Given the description of an element on the screen output the (x, y) to click on. 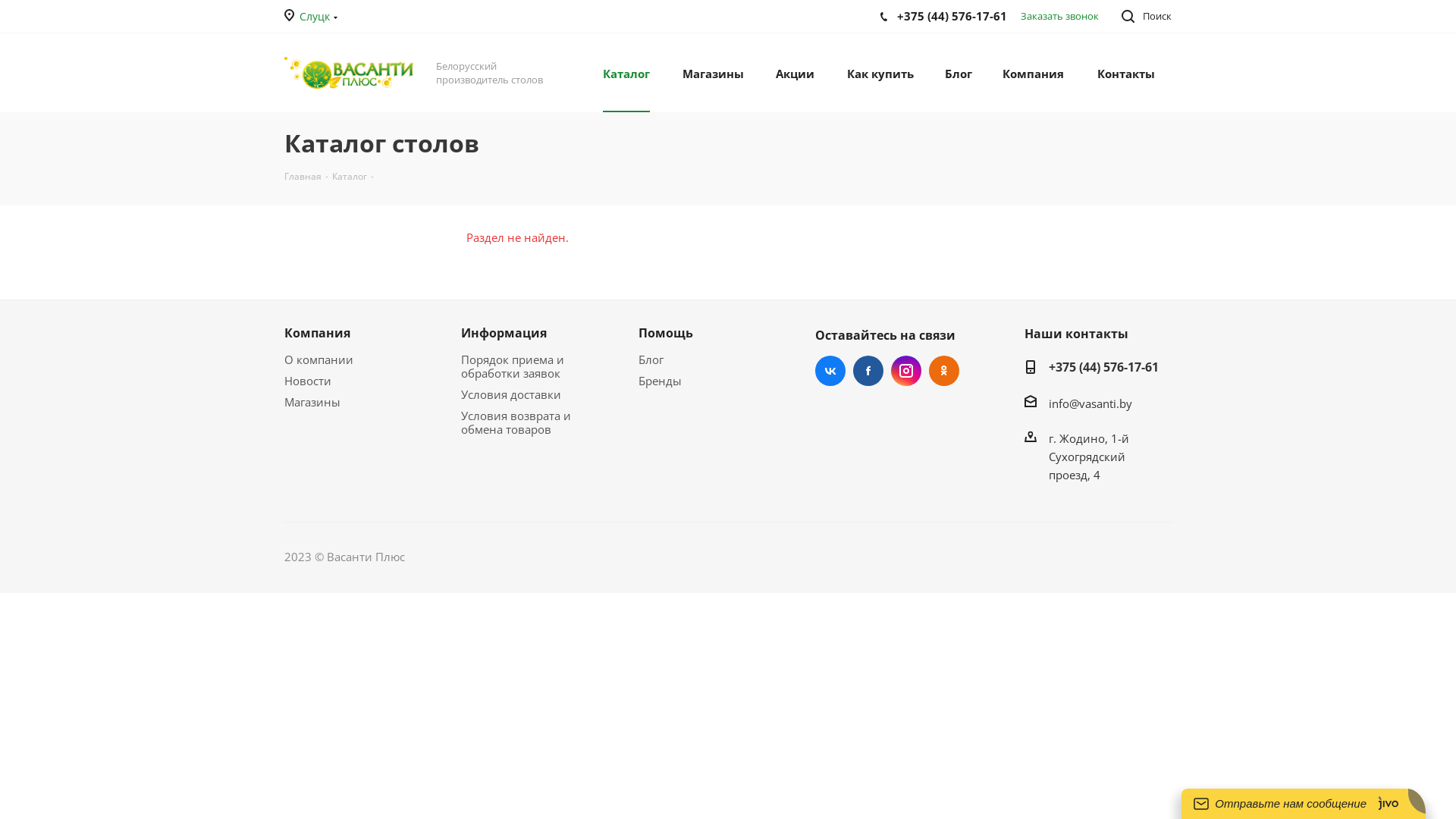
Facebook Element type: text (868, 370)
Instagram Element type: text (906, 370)
+375 (44) 576-17-61 Element type: text (1103, 367)
info@vasanti.by Element type: text (1090, 403)
